Given the description of an element on the screen output the (x, y) to click on. 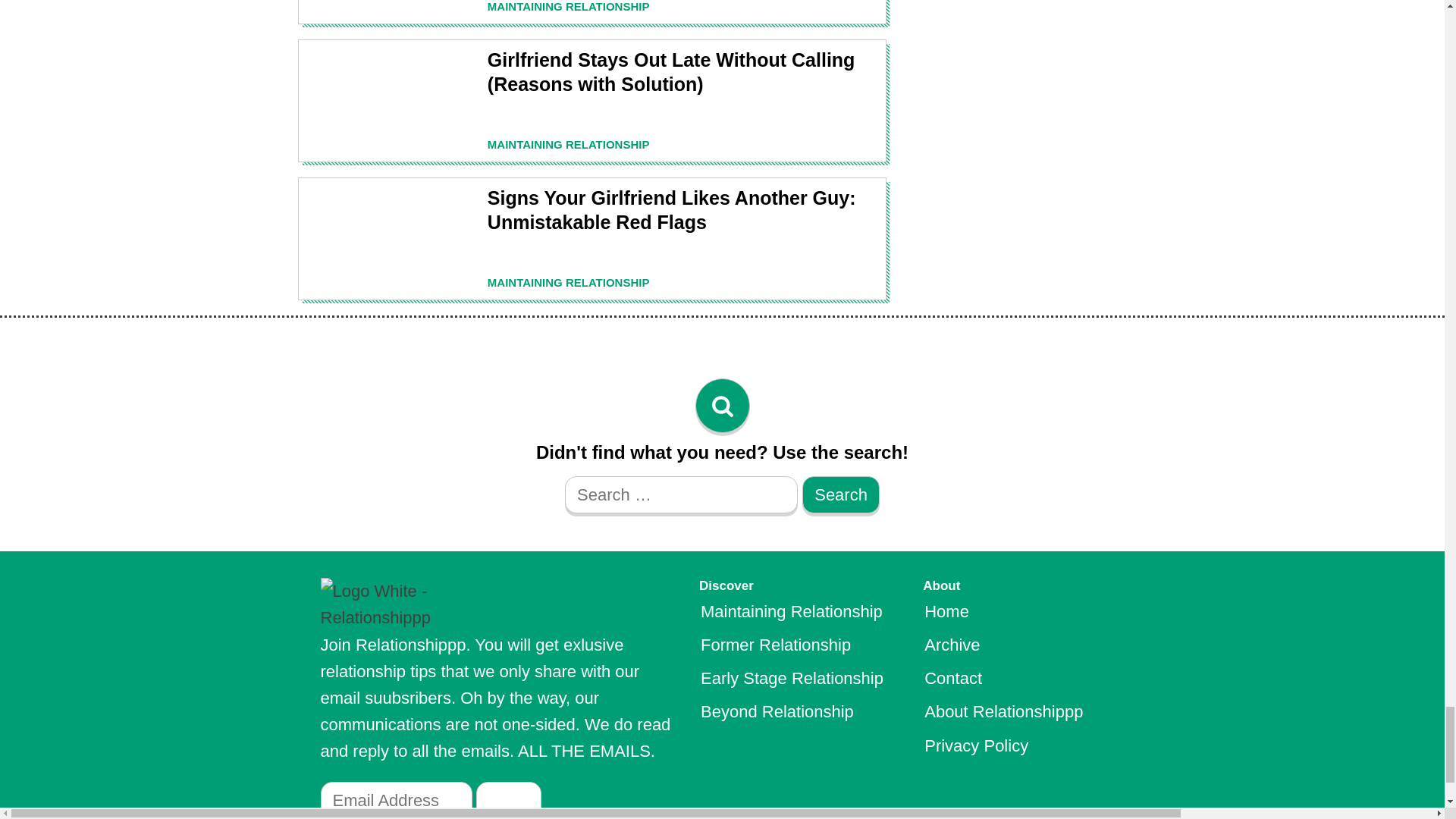
Search (840, 494)
Search (840, 494)
Try it! (508, 799)
